Given the description of an element on the screen output the (x, y) to click on. 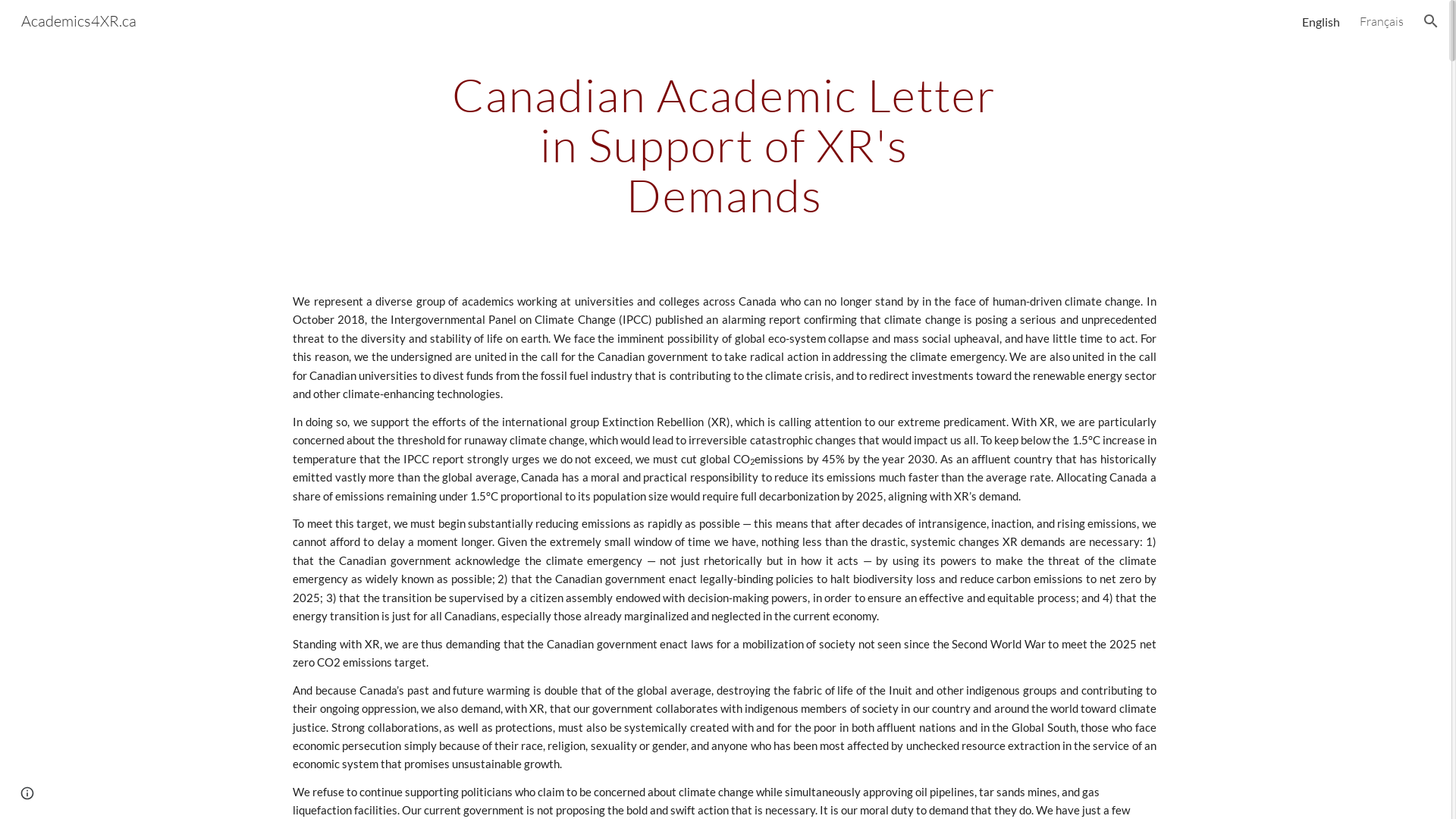
English Element type: text (1320, 20)
Academics4XR.ca Element type: text (78, 18)
